Given the description of an element on the screen output the (x, y) to click on. 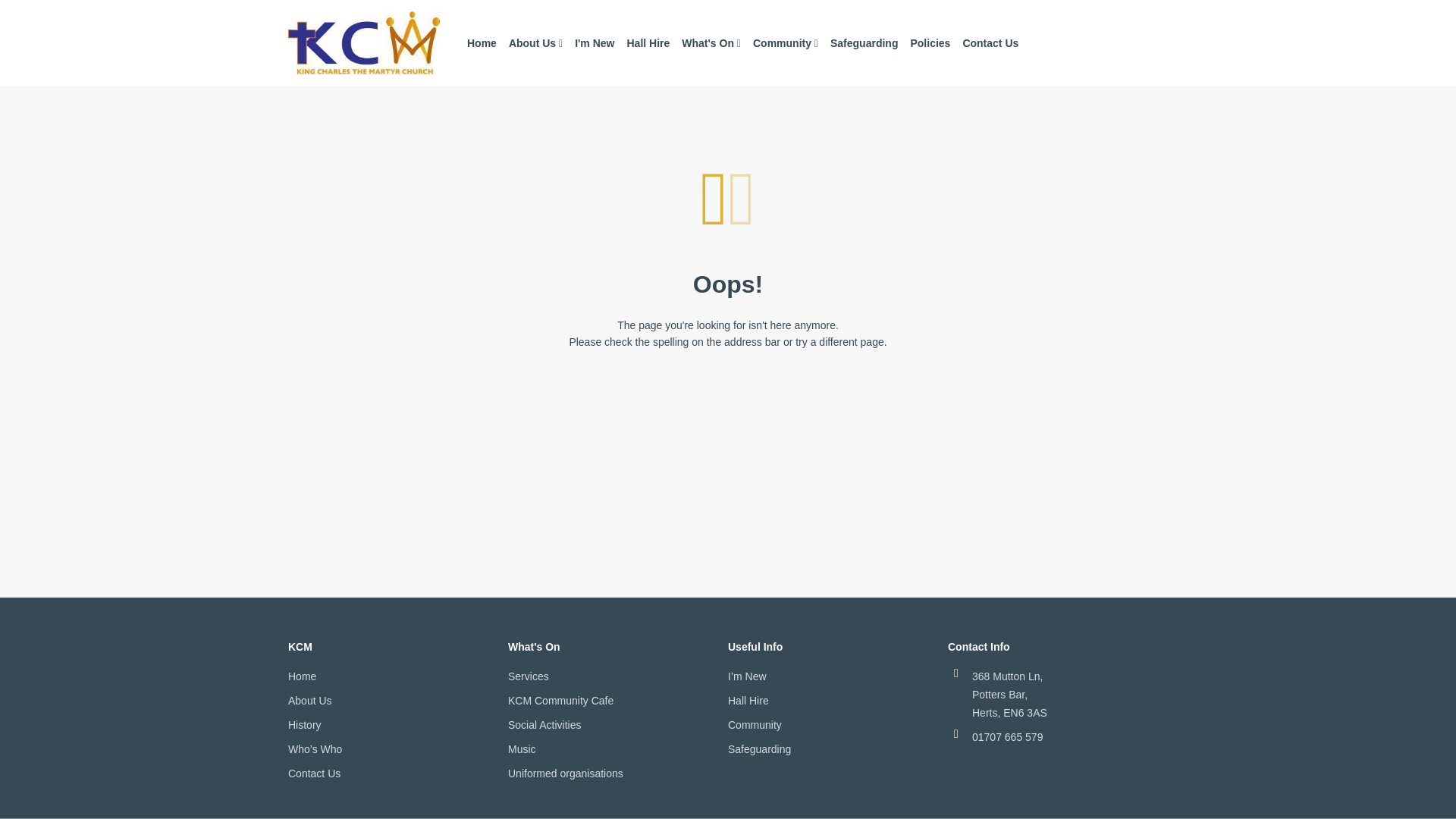
King Charles the Martyr Church (363, 42)
About Us (535, 43)
Hall Hire (647, 43)
I'm New (594, 43)
What's On (710, 43)
Home (481, 43)
